Given the description of an element on the screen output the (x, y) to click on. 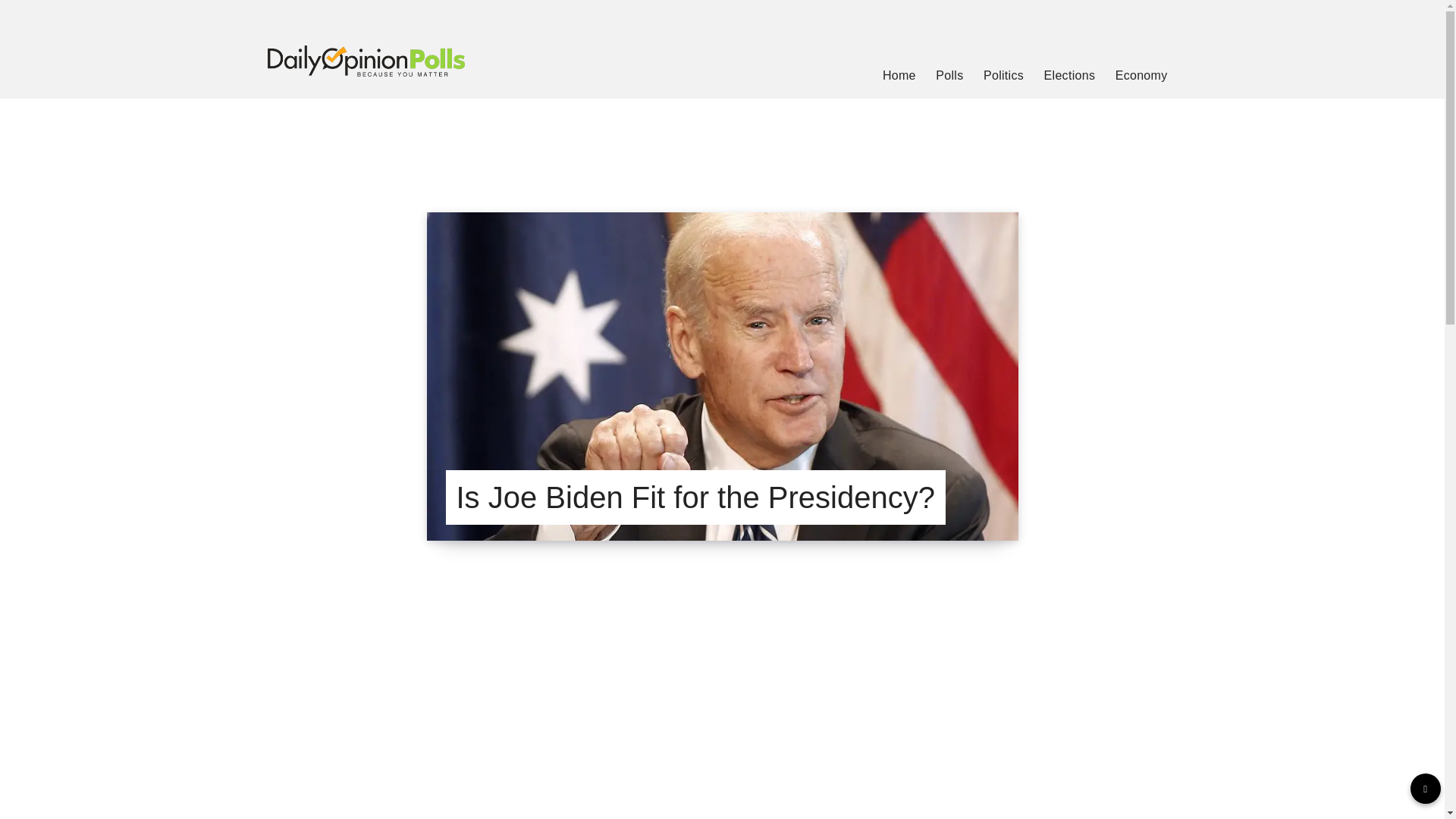
Home (898, 75)
Elections (1069, 75)
Economy (1141, 75)
Poll August 20P (721, 735)
Polls (949, 75)
Politics (1003, 75)
